Given the description of an element on the screen output the (x, y) to click on. 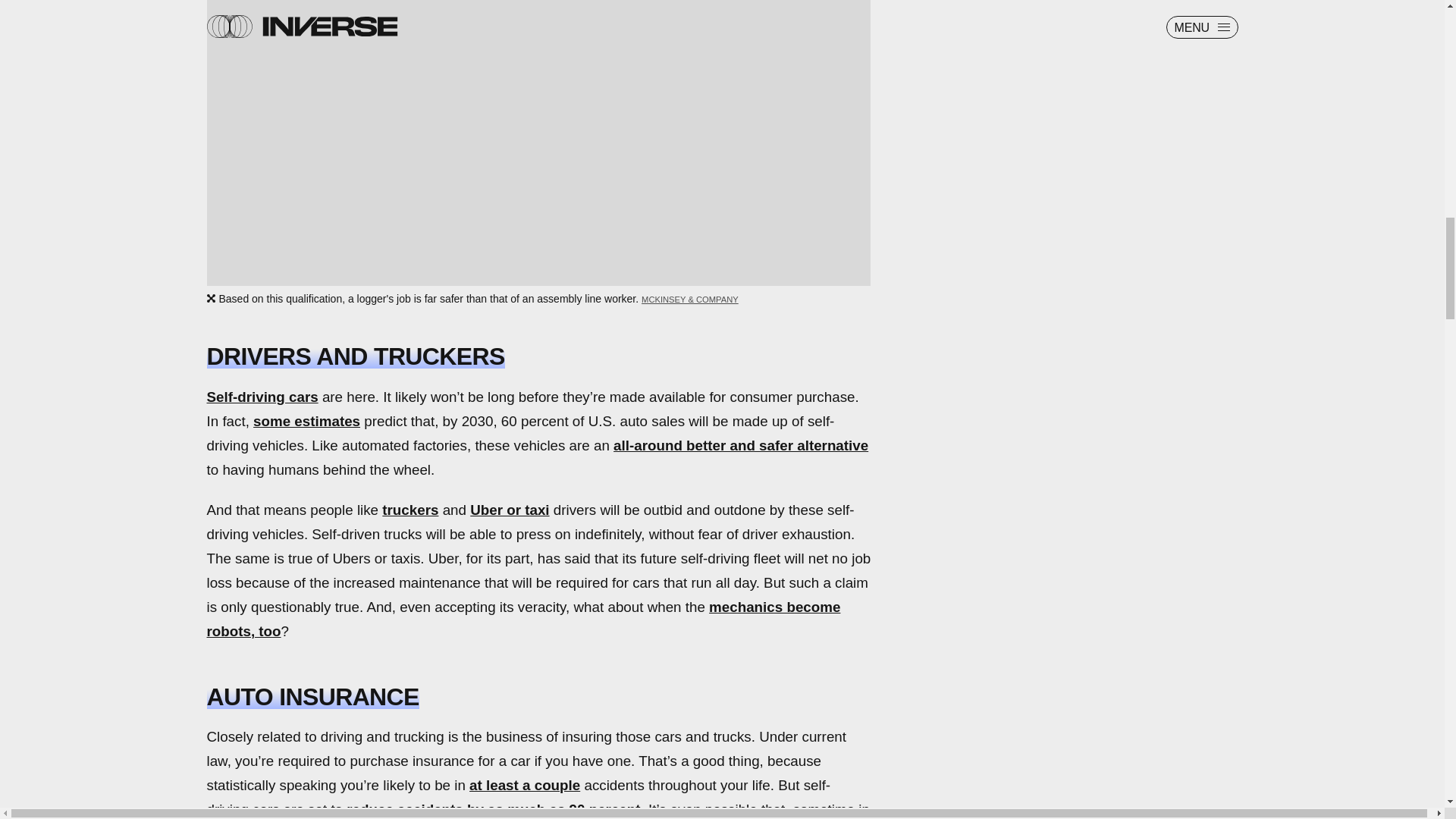
mechanics become robots, too (523, 618)
some estimates (306, 421)
all-around better and safer alternative (739, 445)
reduce accidents by as much as 90 percent (493, 809)
at least a couple (523, 785)
Self-driving cars (261, 396)
truckers (409, 509)
Uber or taxi (509, 509)
